Given the description of an element on the screen output the (x, y) to click on. 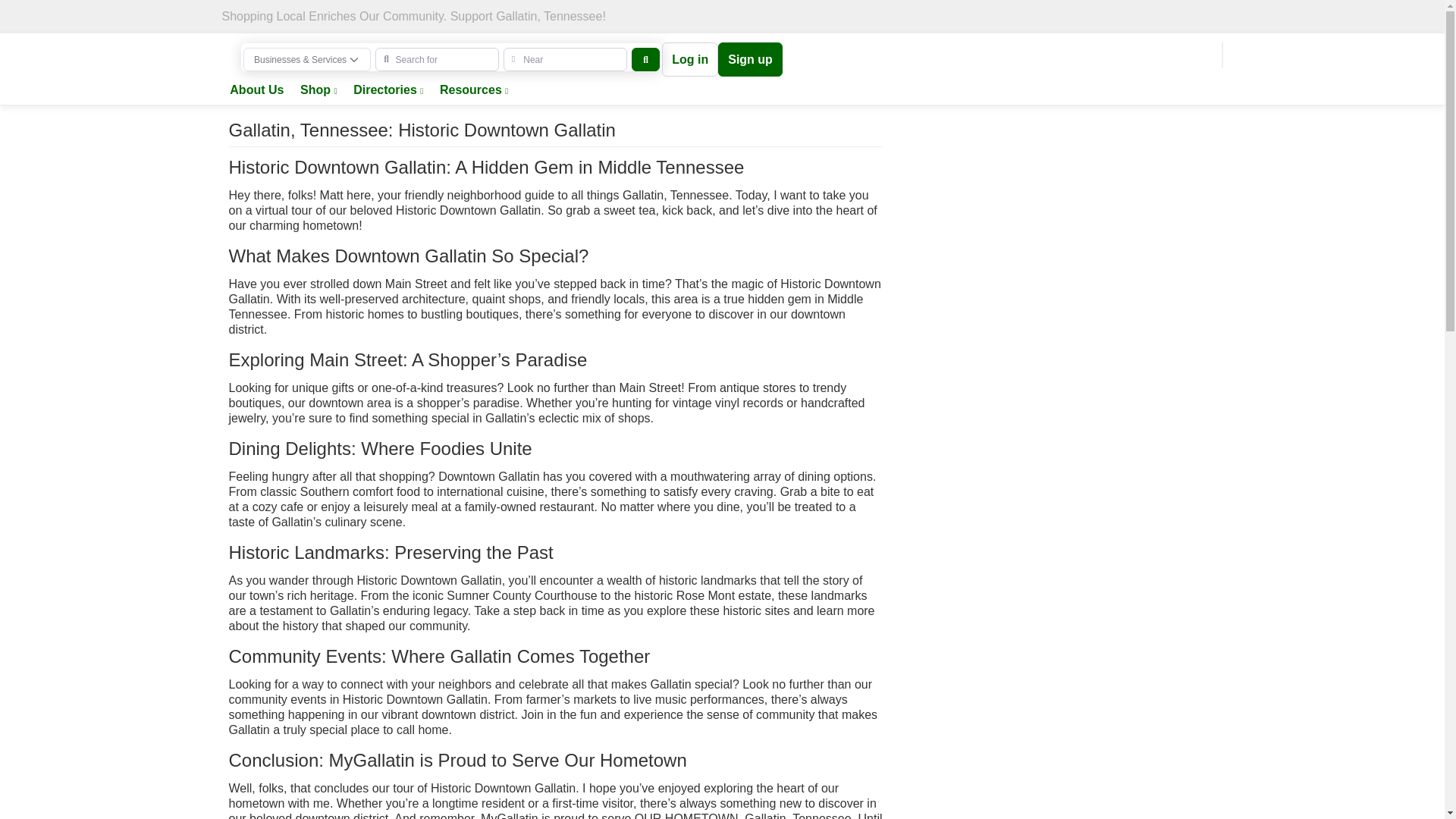
Resources (473, 90)
Directories (387, 90)
Search (645, 59)
Log in (689, 59)
Shop (318, 90)
About Us (256, 90)
Sign up (750, 59)
